Given the description of an element on the screen output the (x, y) to click on. 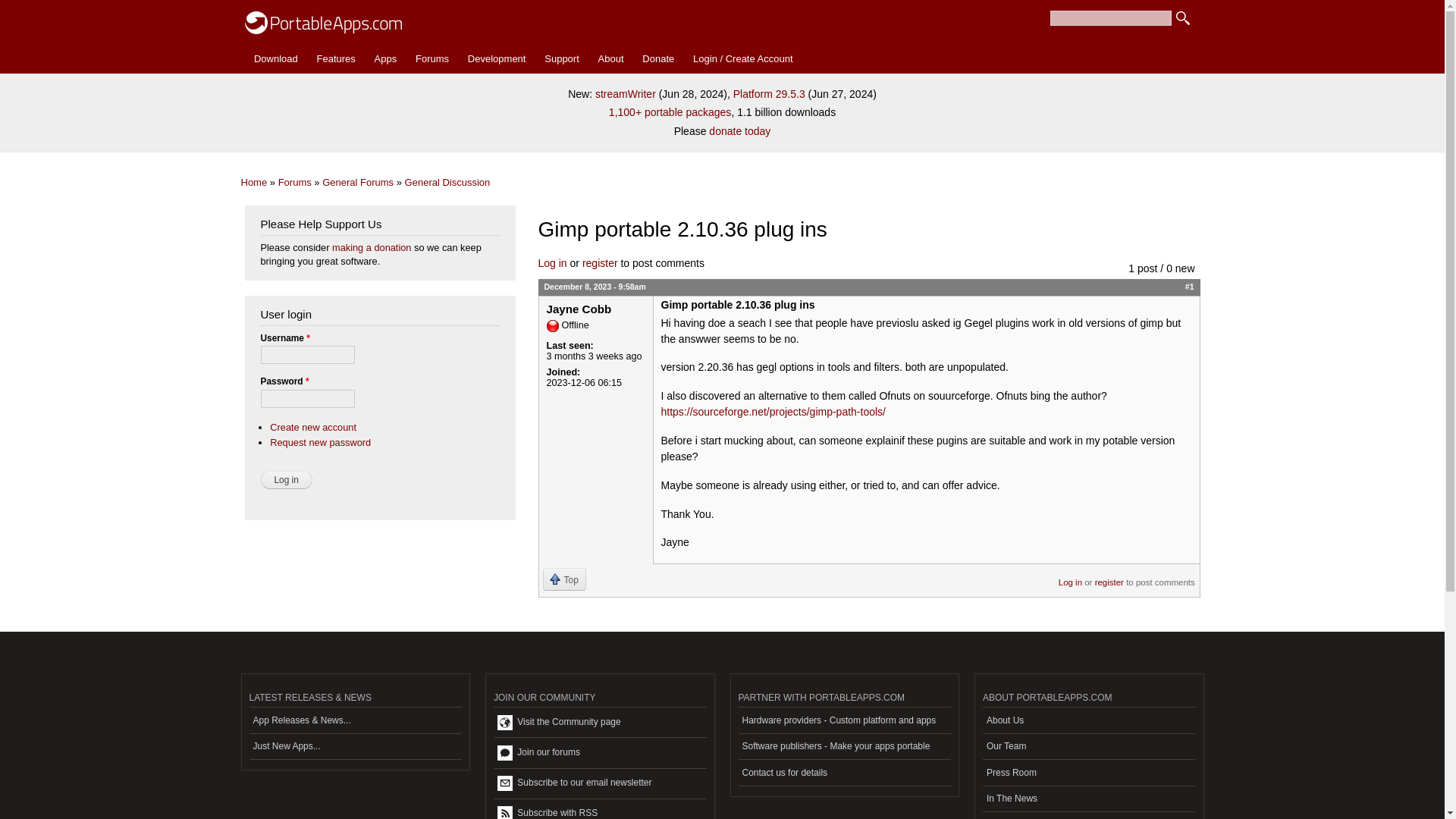
Request new password via e-mail. (320, 441)
Just New Apps... (354, 746)
Create a new user account. (312, 427)
Download (275, 59)
Home (254, 182)
Contribute to PortableApps.com (658, 59)
Visit the Community page (599, 722)
Development (496, 59)
Forums (294, 182)
Log in (286, 479)
General Discussion (447, 182)
Portable App Directory (385, 59)
Search (1182, 17)
Top (564, 579)
register (599, 263)
